Given the description of an element on the screen output the (x, y) to click on. 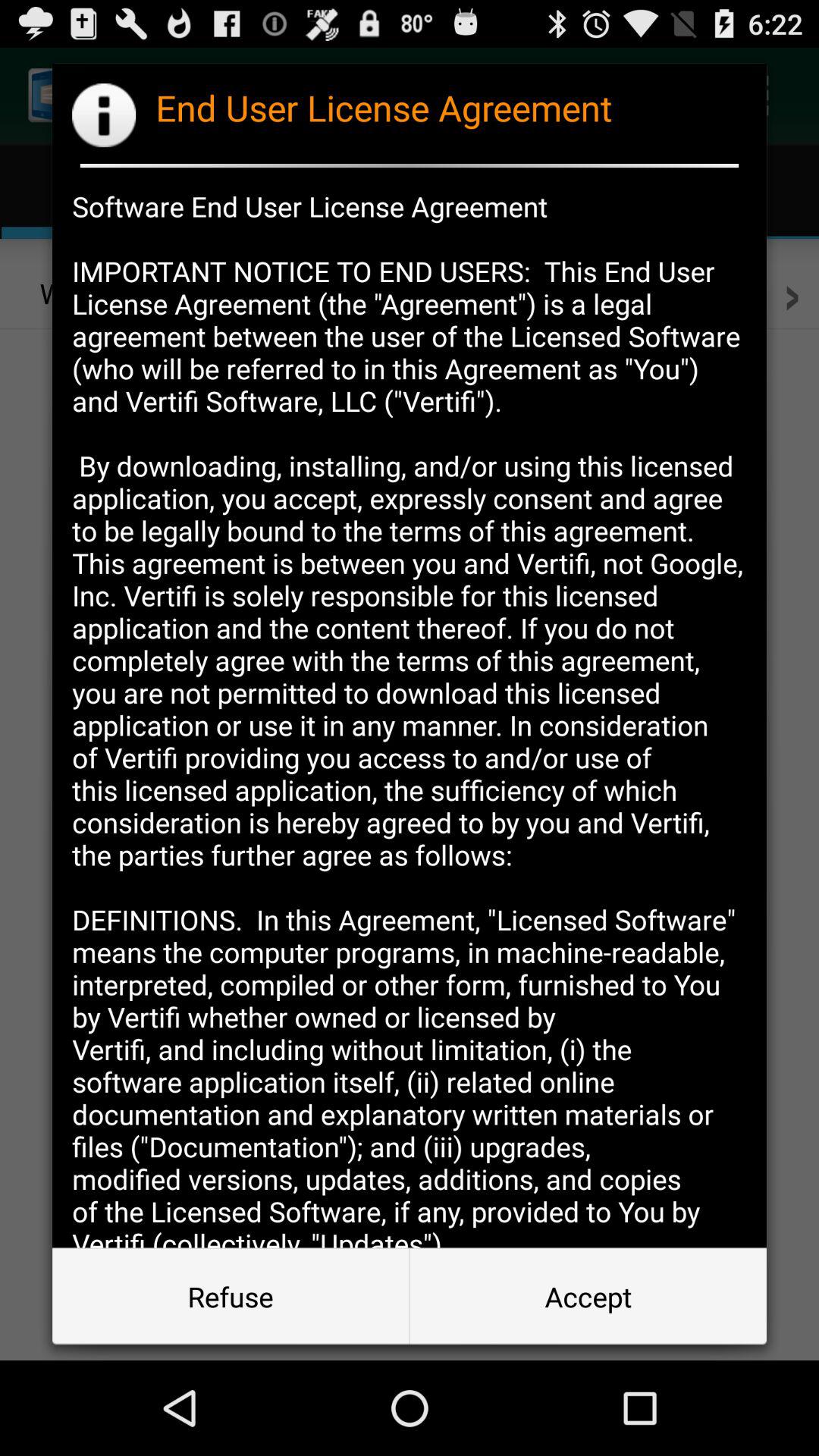
click item to the left of accept button (230, 1296)
